Given the description of an element on the screen output the (x, y) to click on. 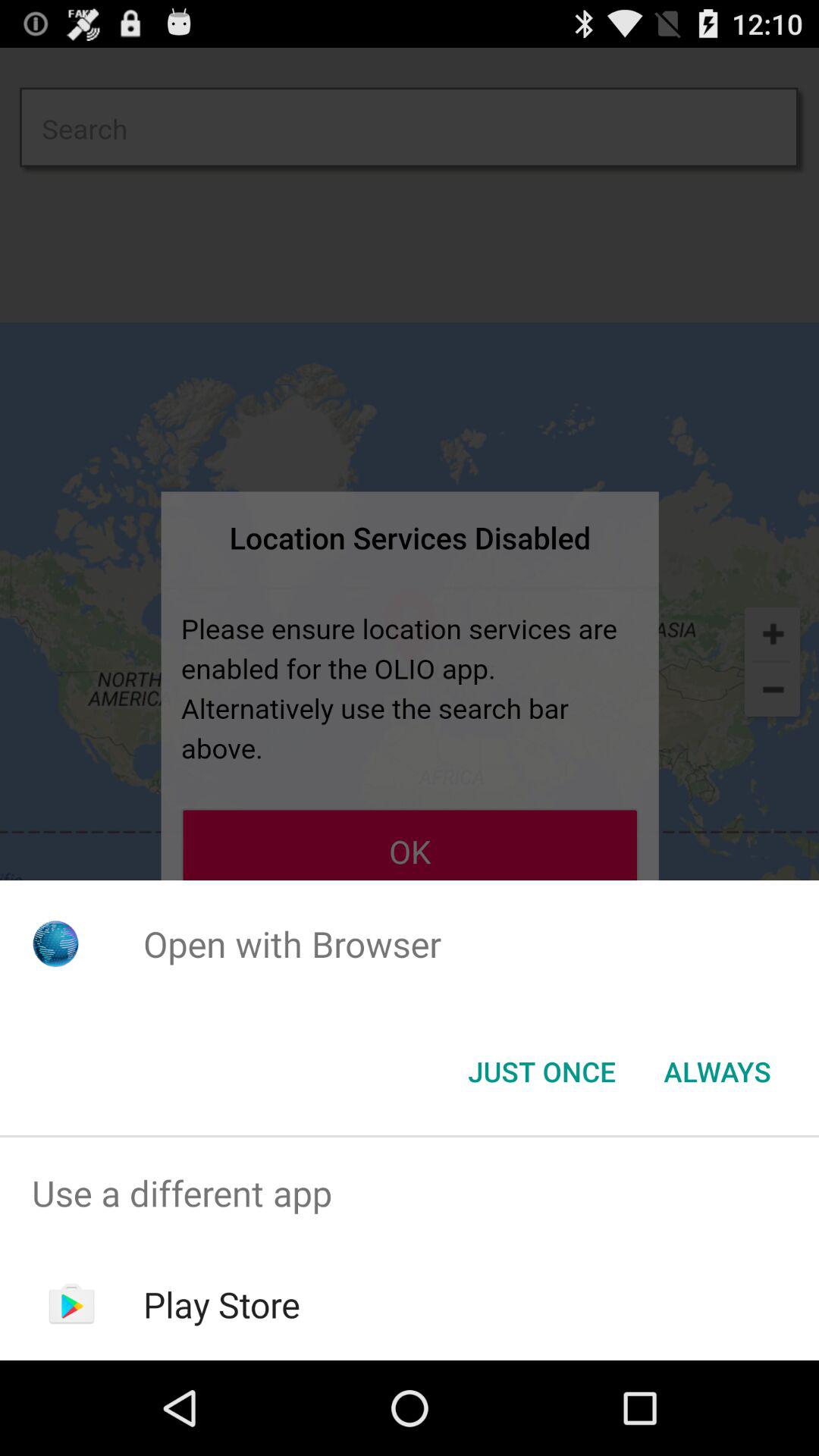
launch play store app (221, 1304)
